Given the description of an element on the screen output the (x, y) to click on. 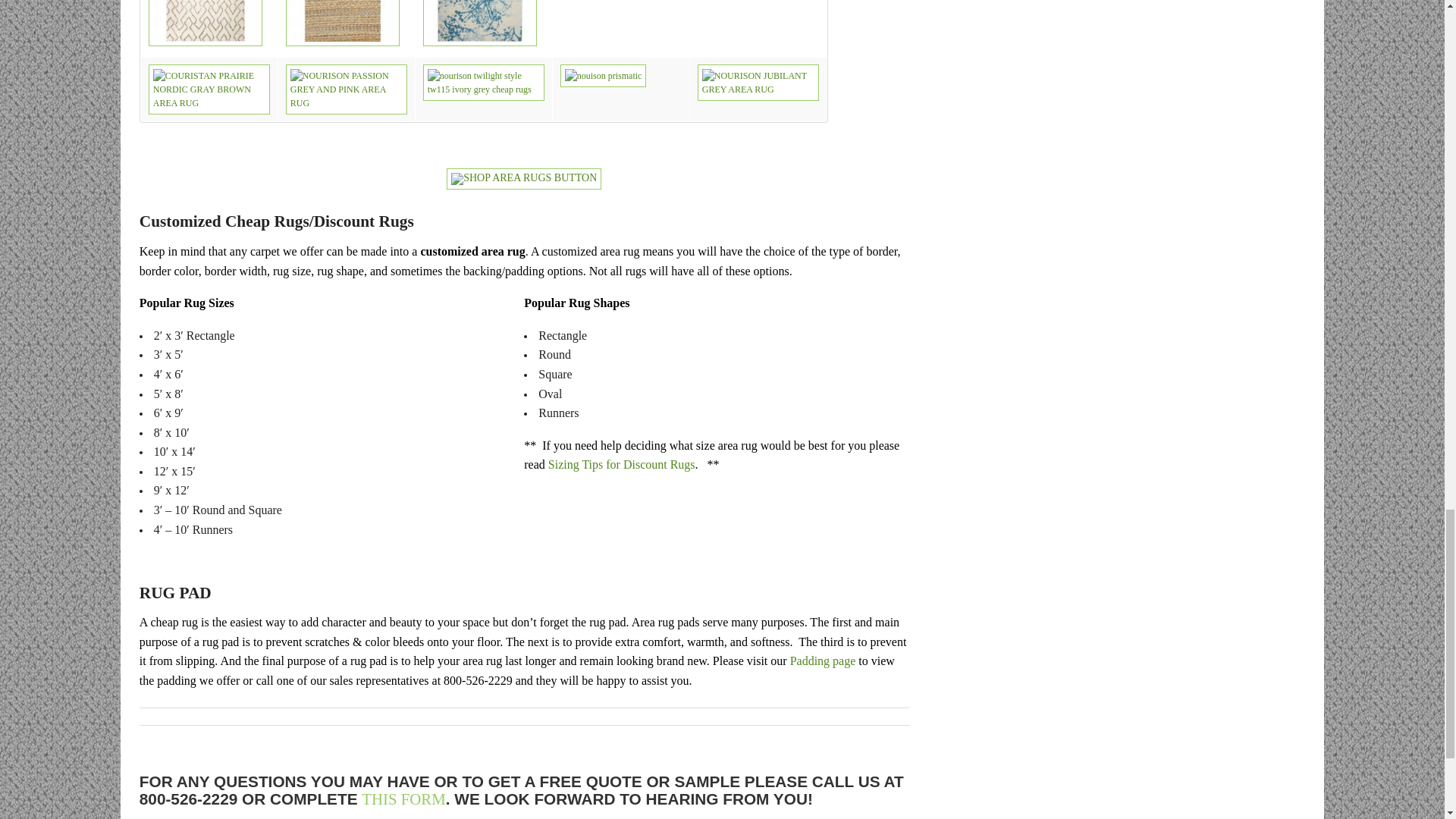
Padding page (823, 660)
Sizing Tips for Discount Rugs (621, 463)
THIS FORM (403, 798)
